Given the description of an element on the screen output the (x, y) to click on. 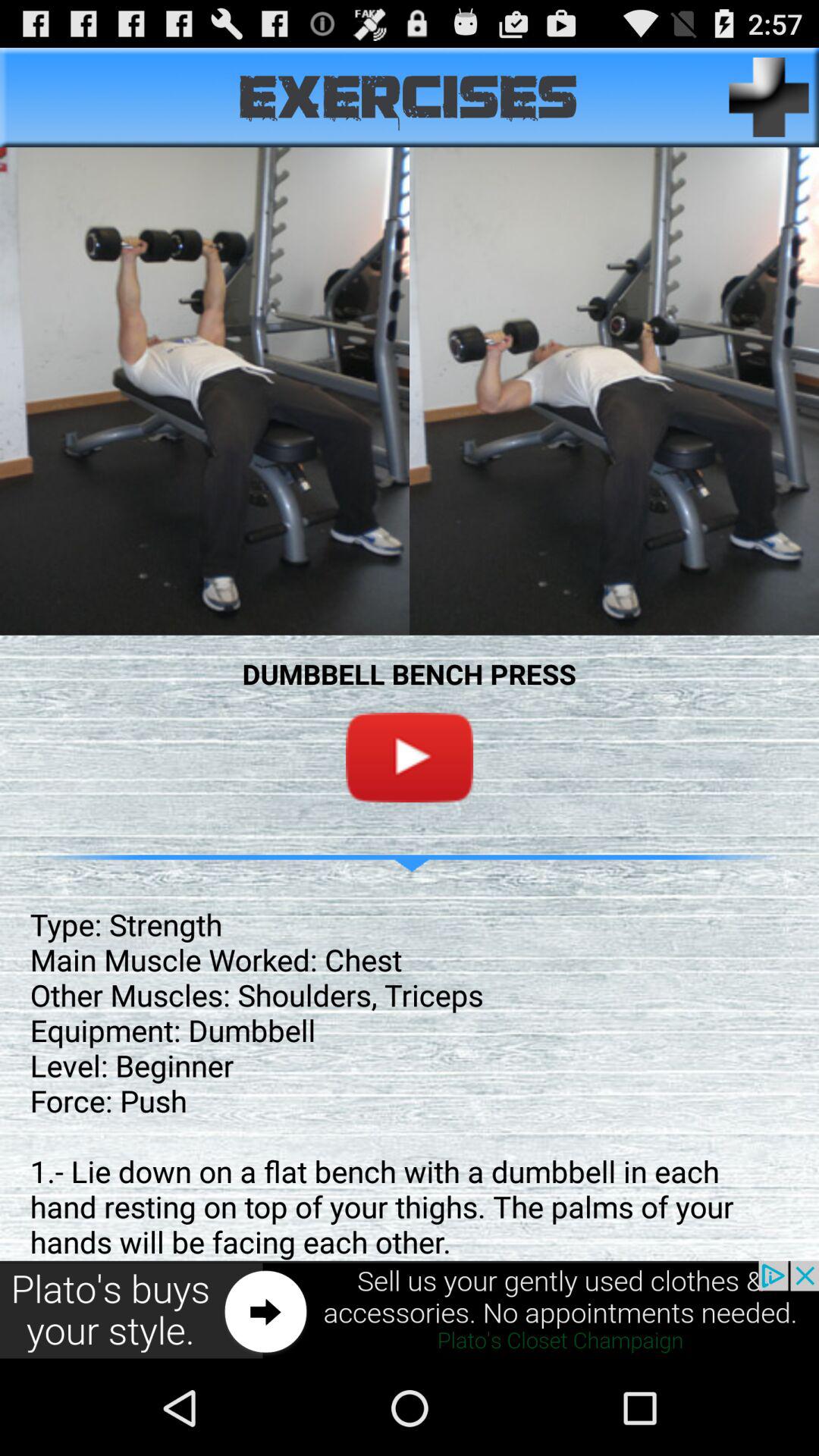
advertisement option (409, 1310)
